Given the description of an element on the screen output the (x, y) to click on. 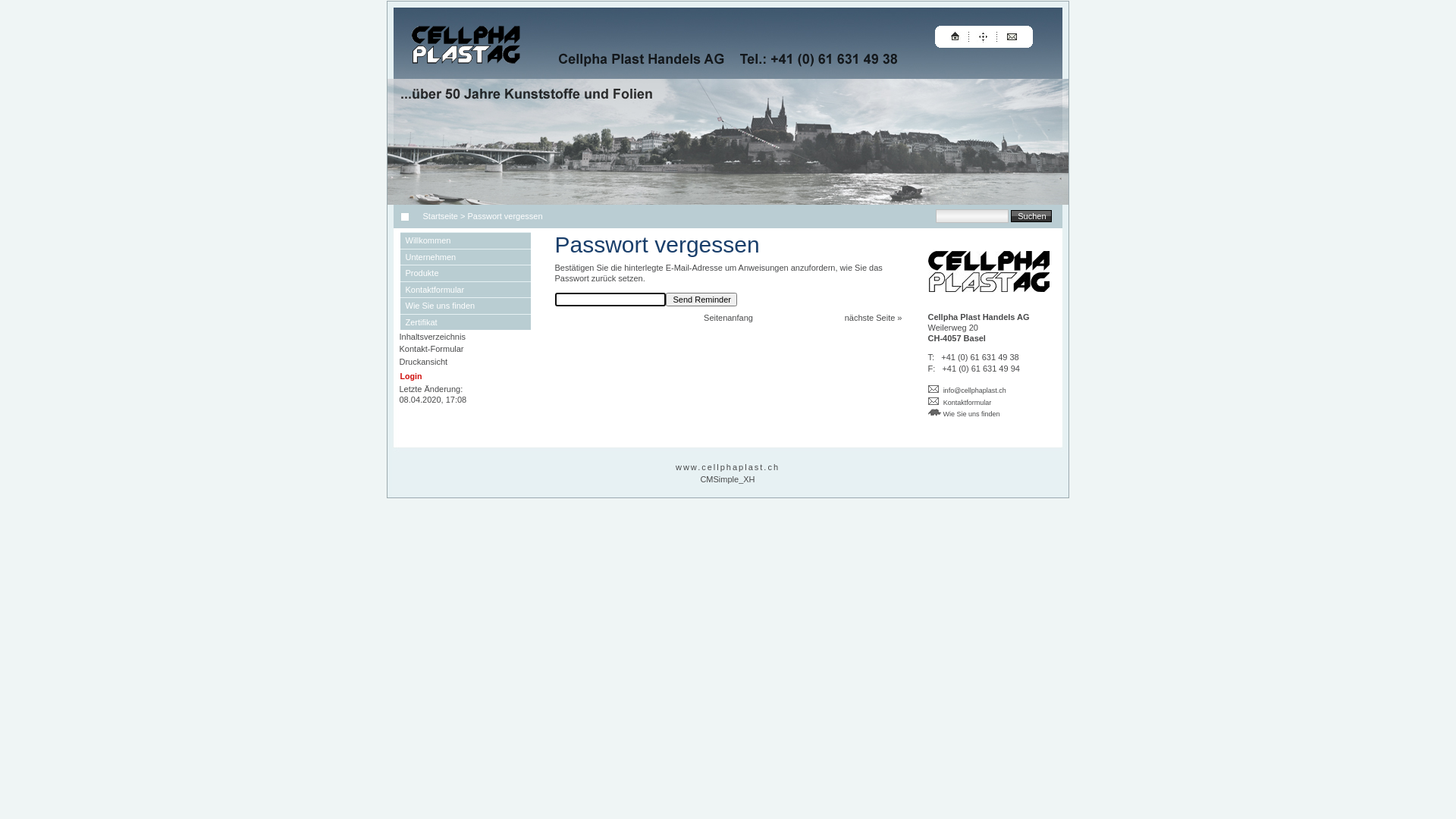
Wie Sie uns finden Element type: text (465, 305)
Suchbegriffe Element type: hover (971, 215)
eMail-prorigi.gif Element type: hover (933, 388)
Send Reminder Element type: text (701, 299)
Suchen Element type: text (1030, 215)
Druckansicht Element type: text (422, 361)
Kontaktformular Element type: text (465, 288)
Cellpha-Logo bereinigt.jpg Element type: hover (988, 271)
Willkommen Element type: text (465, 240)
Zertifikat Element type: text (465, 321)
Seitenanfang Element type: text (728, 317)
Inhaltsverzeichnis Element type: text (431, 336)
info@cellphaplast.ch Element type: text (974, 390)
Produkte Element type: text (465, 272)
Kontaktformular Element type: text (967, 402)
swiss-map.gif Element type: hover (934, 412)
eMail-prorigi.gif Element type: hover (933, 400)
Unternehmen Element type: text (465, 256)
Login Element type: text (411, 375)
Startseite Element type: text (438, 215)
Kontakt-Formular Element type: text (430, 348)
 Wie Sie uns finden Element type: text (964, 412)
